Given the description of an element on the screen output the (x, y) to click on. 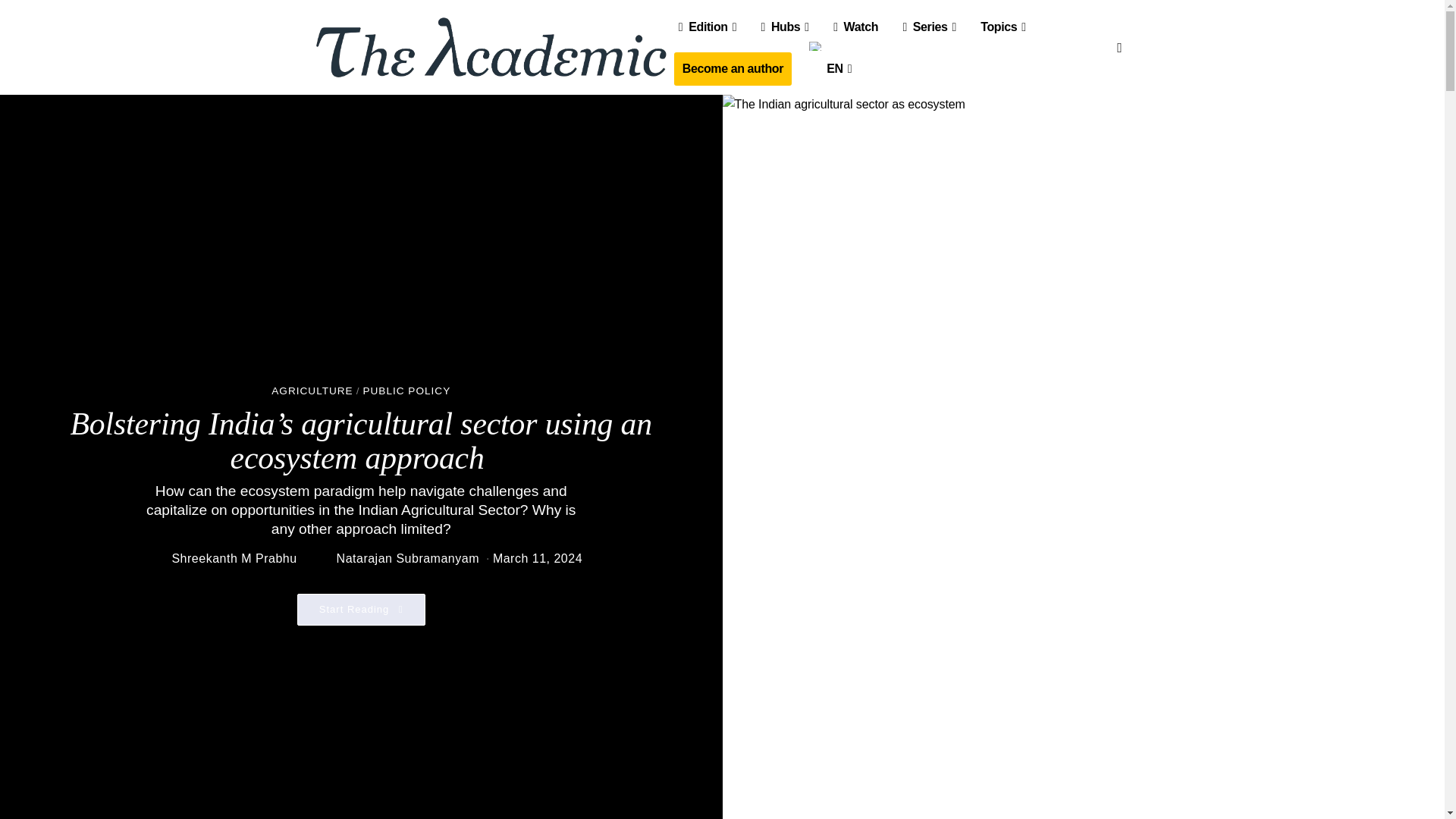
Shreekanth M Prabhu (234, 558)
English (815, 45)
Series (928, 27)
Watch (855, 27)
Start Reading (361, 609)
EN (827, 63)
Topics (1002, 27)
Become an author (733, 68)
PUBLIC POLICY (405, 391)
Hubs (783, 27)
